Given the description of an element on the screen output the (x, y) to click on. 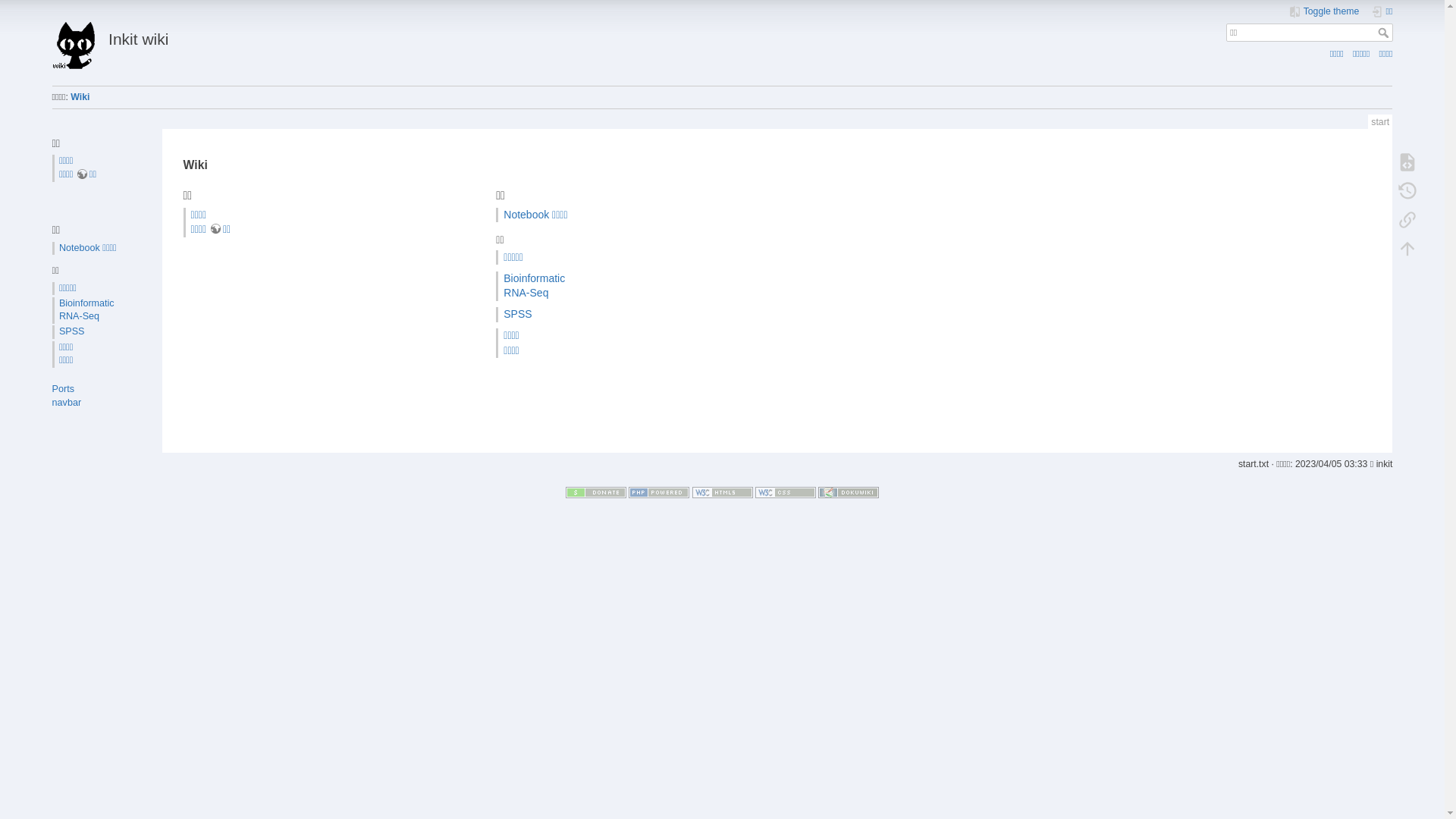
Valid HTML5 Element type: hover (721, 491)
Powered by PHP Element type: hover (658, 491)
SPSS Element type: text (517, 313)
Driven by DokuWiki Element type: hover (848, 491)
Ports Element type: text (63, 388)
RNA-Seq Element type: text (525, 292)
SPSS Element type: text (71, 331)
navbar Element type: text (66, 402)
RNA-Seq Element type: text (79, 315)
Bioinformatic Element type: text (533, 278)
Inkit wiki Element type: text (380, 35)
[F] Element type: hover (1309, 32)
Toggle theme Element type: text (1323, 11)
Bioinformatic Element type: text (86, 303)
Valid CSS Element type: hover (785, 491)
Wiki Element type: text (79, 96)
Donate Element type: hover (595, 491)
